Given the description of an element on the screen output the (x, y) to click on. 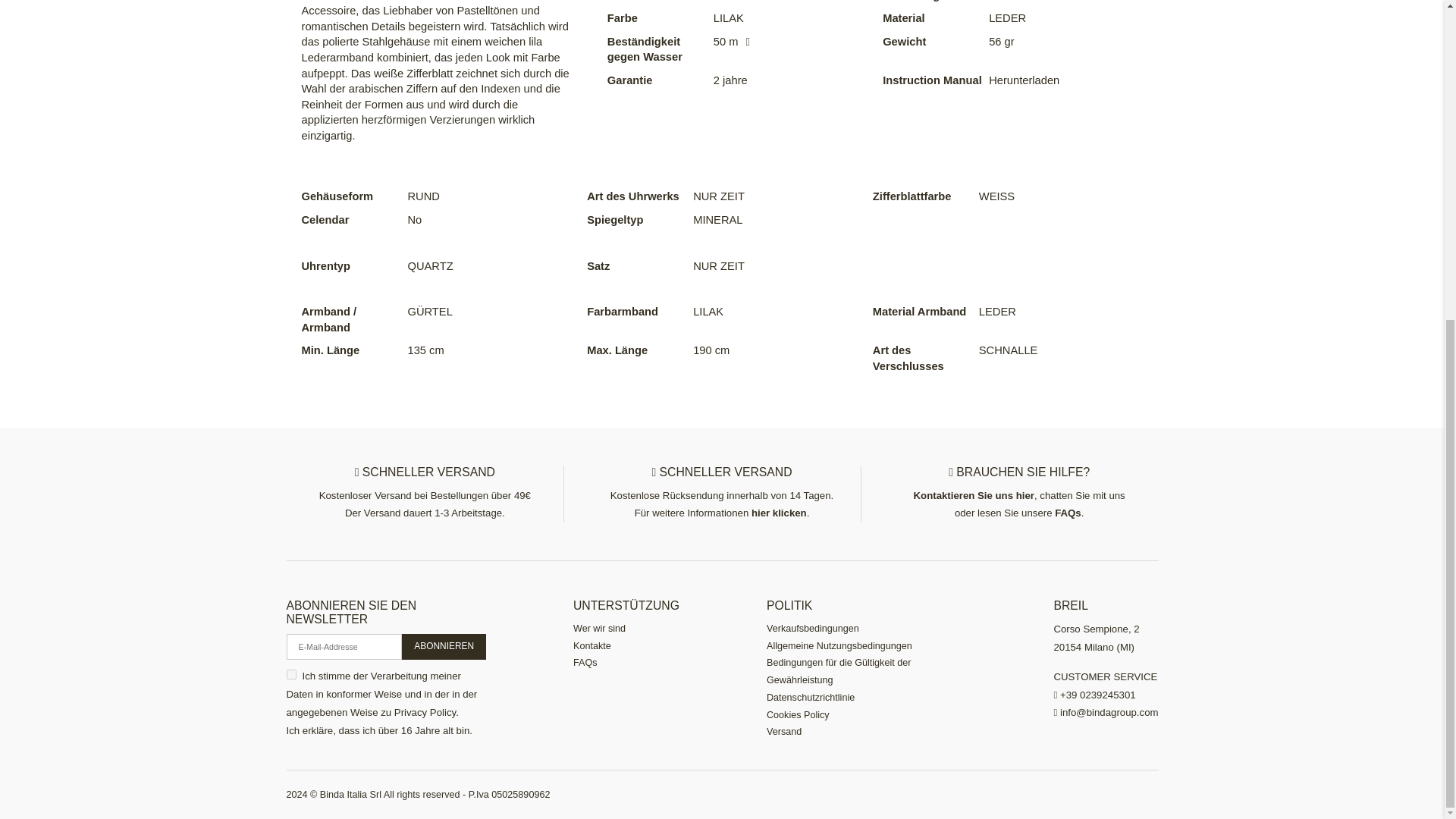
on (291, 674)
Abonnieren (443, 646)
